Given the description of an element on the screen output the (x, y) to click on. 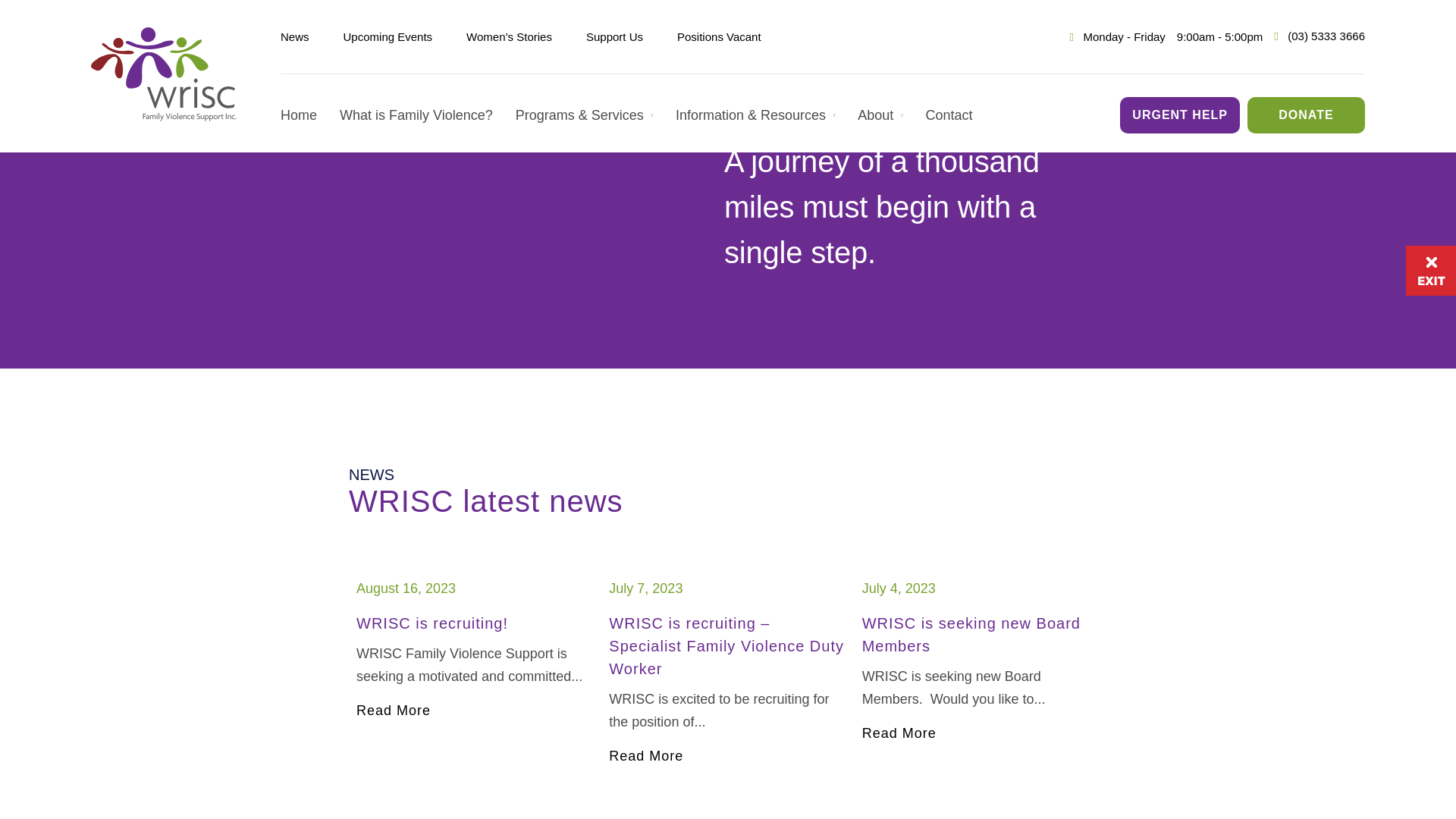
Information & Resources Element type: text (766, 115)
Contact Element type: text (960, 115)
Support Us Element type: text (614, 36)
About Element type: text (891, 115)
Home Element type: text (309, 115)
News Element type: text (294, 36)
Programs & Services Element type: text (595, 115)
Upcoming Events Element type: text (388, 36)
URGENT HELP Element type: text (1179, 115)
What is Family Violence? Element type: text (427, 115)
DONATE Element type: text (1306, 115)
Positions Vacant Element type: text (719, 36)
